Given the description of an element on the screen output the (x, y) to click on. 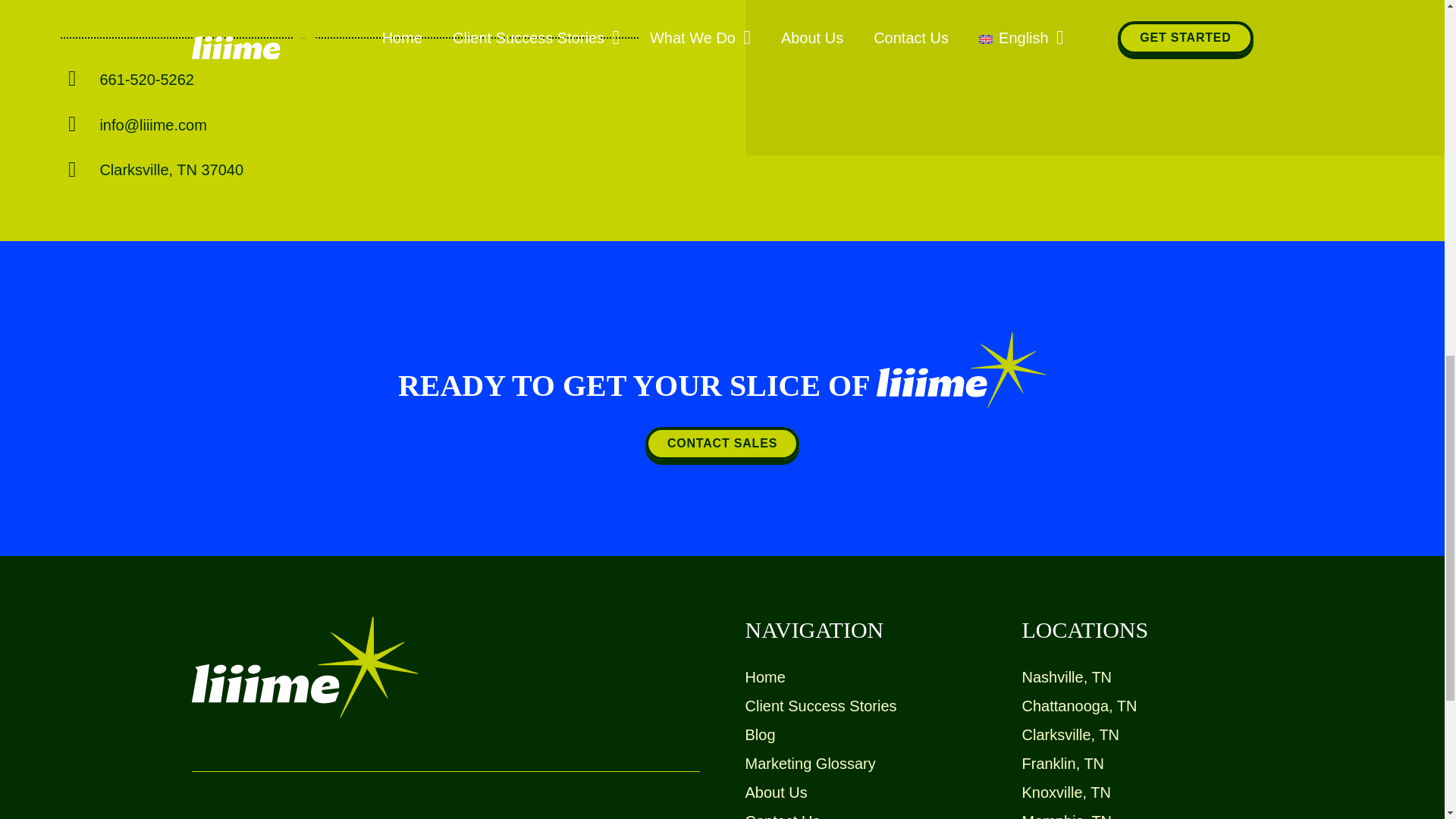
Nashville, TN (1067, 677)
Home (764, 677)
Marketing Glossary (809, 763)
CONTACT SALES (722, 442)
About Us (775, 791)
Client Success Stories (820, 705)
Memphis, TN (1067, 816)
Contact Us (781, 816)
Chattanooga, TN (1079, 705)
Clarksville, TN (1070, 734)
Franklin, TN (1063, 763)
Knoxville, TN (1066, 791)
Get your slice of liiime (165, 1)
Blog (759, 734)
Back to top (1413, 26)
